Given the description of an element on the screen output the (x, y) to click on. 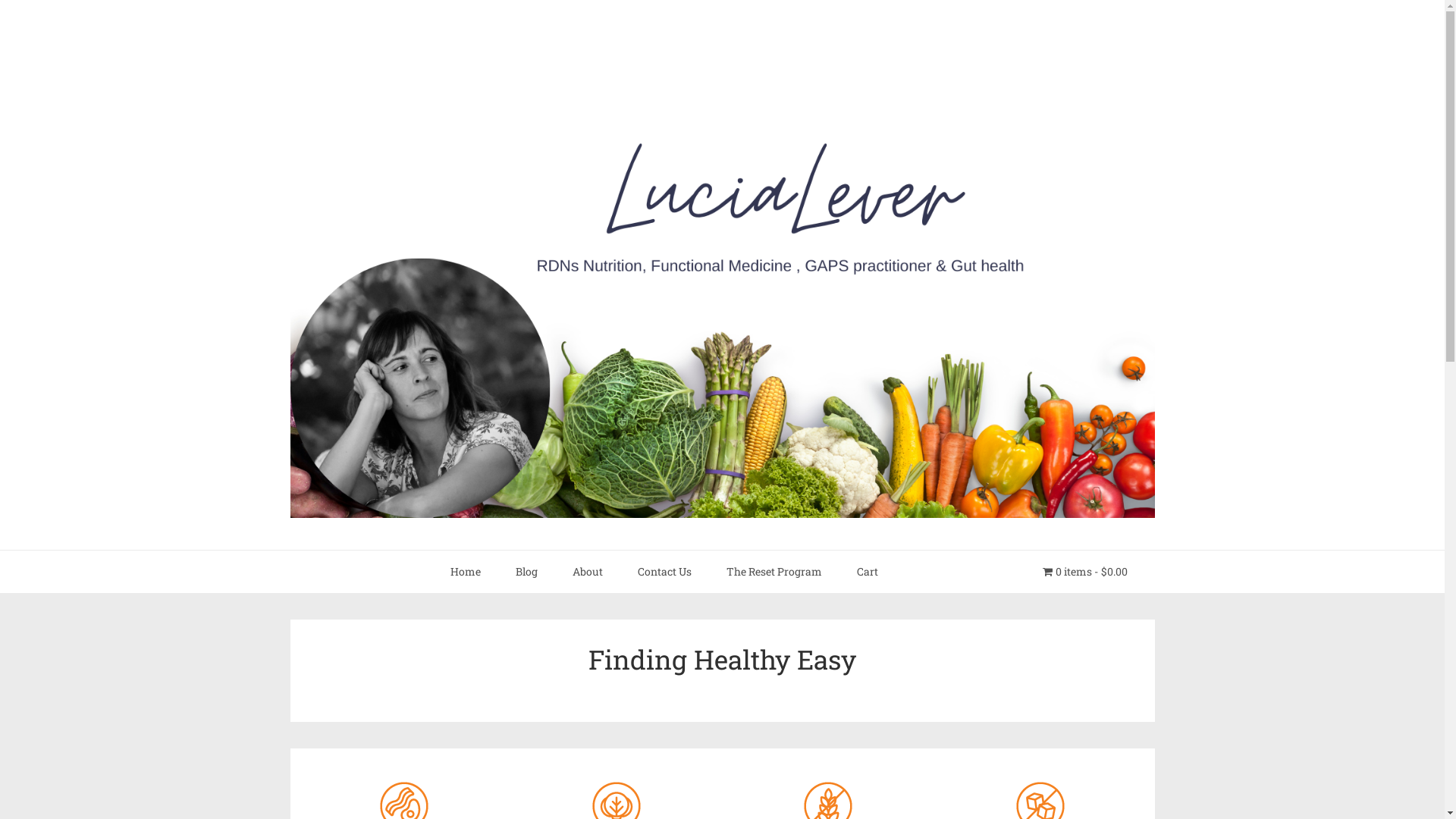
0 items$0.00 Element type: text (1084, 571)
Blog Element type: text (526, 571)
About Element type: text (587, 571)
Contact Us Element type: text (664, 571)
Cart Element type: text (867, 571)
The Reset Program Element type: text (773, 571)
Finding Healthy Easy Element type: text (722, 658)
Home Element type: text (465, 571)
